Given the description of an element on the screen output the (x, y) to click on. 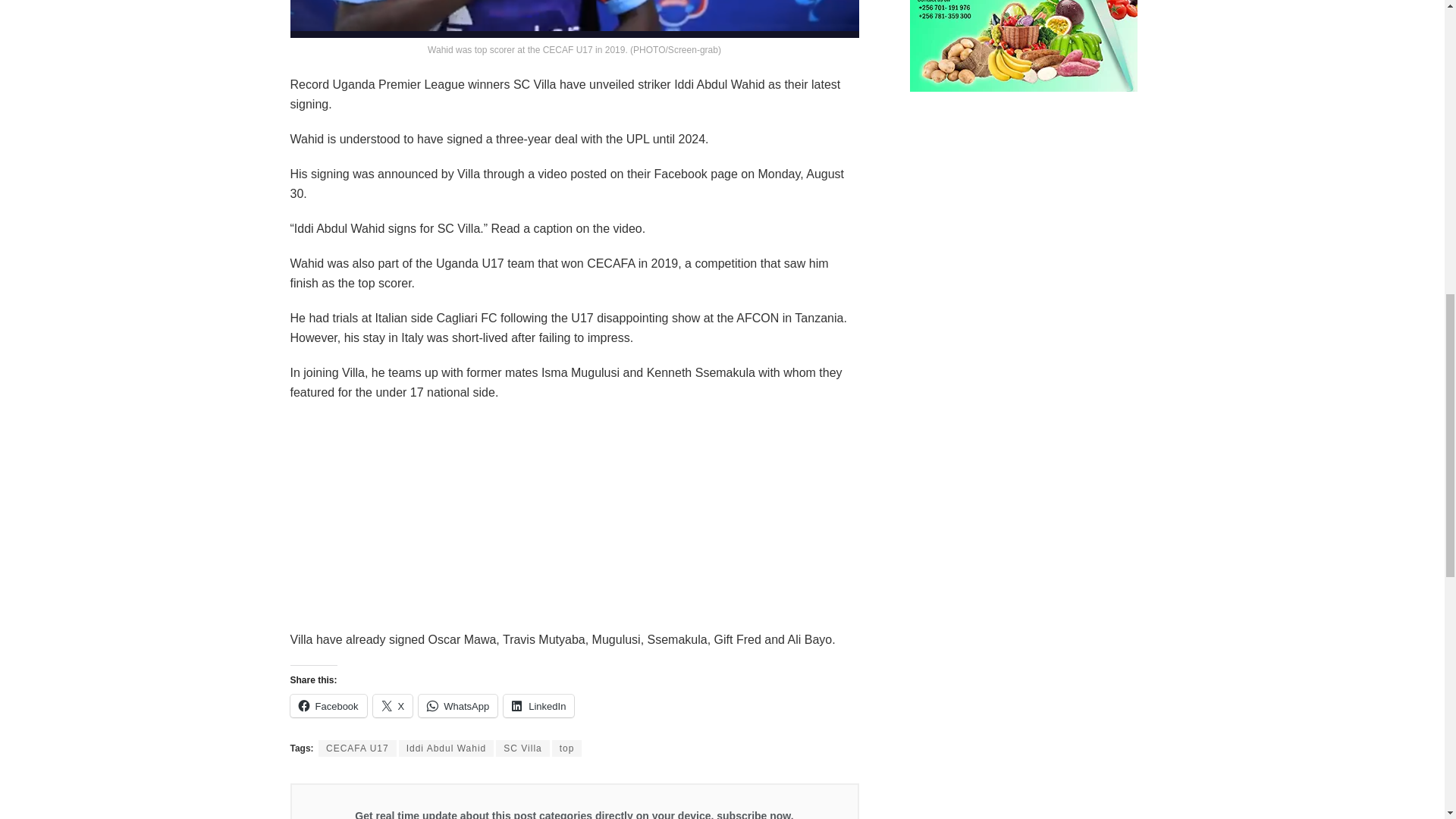
Click to share on LinkedIn (538, 705)
Click to share on X (392, 705)
Click to share on Facebook (327, 705)
Advertisement (574, 523)
Click to share on WhatsApp (458, 705)
